Given the description of an element on the screen output the (x, y) to click on. 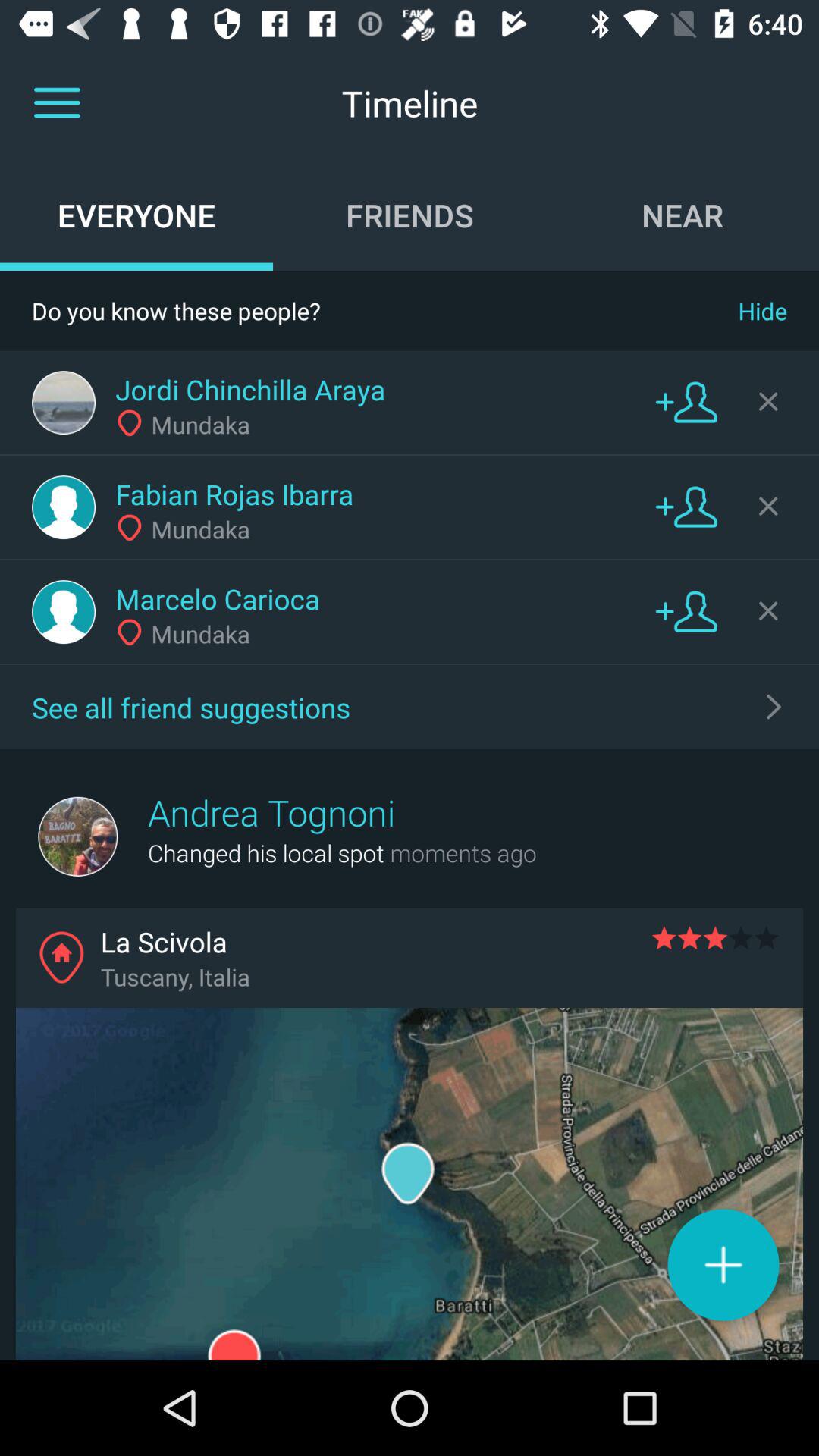
press the item next to the friends (136, 214)
